Given the description of an element on the screen output the (x, y) to click on. 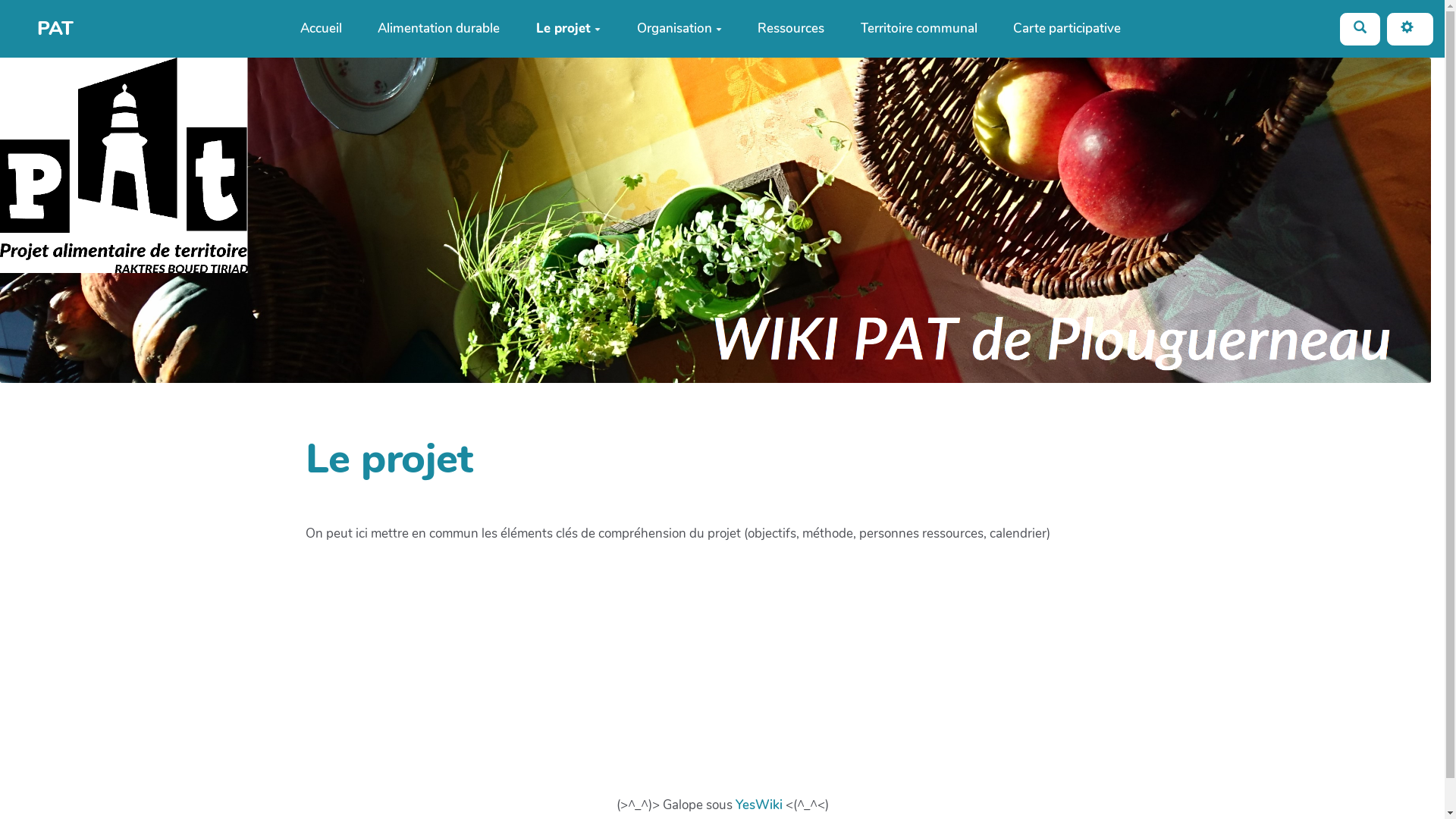
Le projet Element type: text (567, 29)
Territoire communal Element type: text (918, 29)
Organisation Element type: text (679, 29)
Accueil Element type: text (321, 29)
Alimentation durable Element type: text (439, 29)
Carte participative Element type: text (1066, 29)
YesWiki Element type: text (758, 804)
PAT Element type: text (42, 28)
Ressources Element type: text (790, 29)
Rechercher Element type: text (1359, 28)
